Given the description of an element on the screen output the (x, y) to click on. 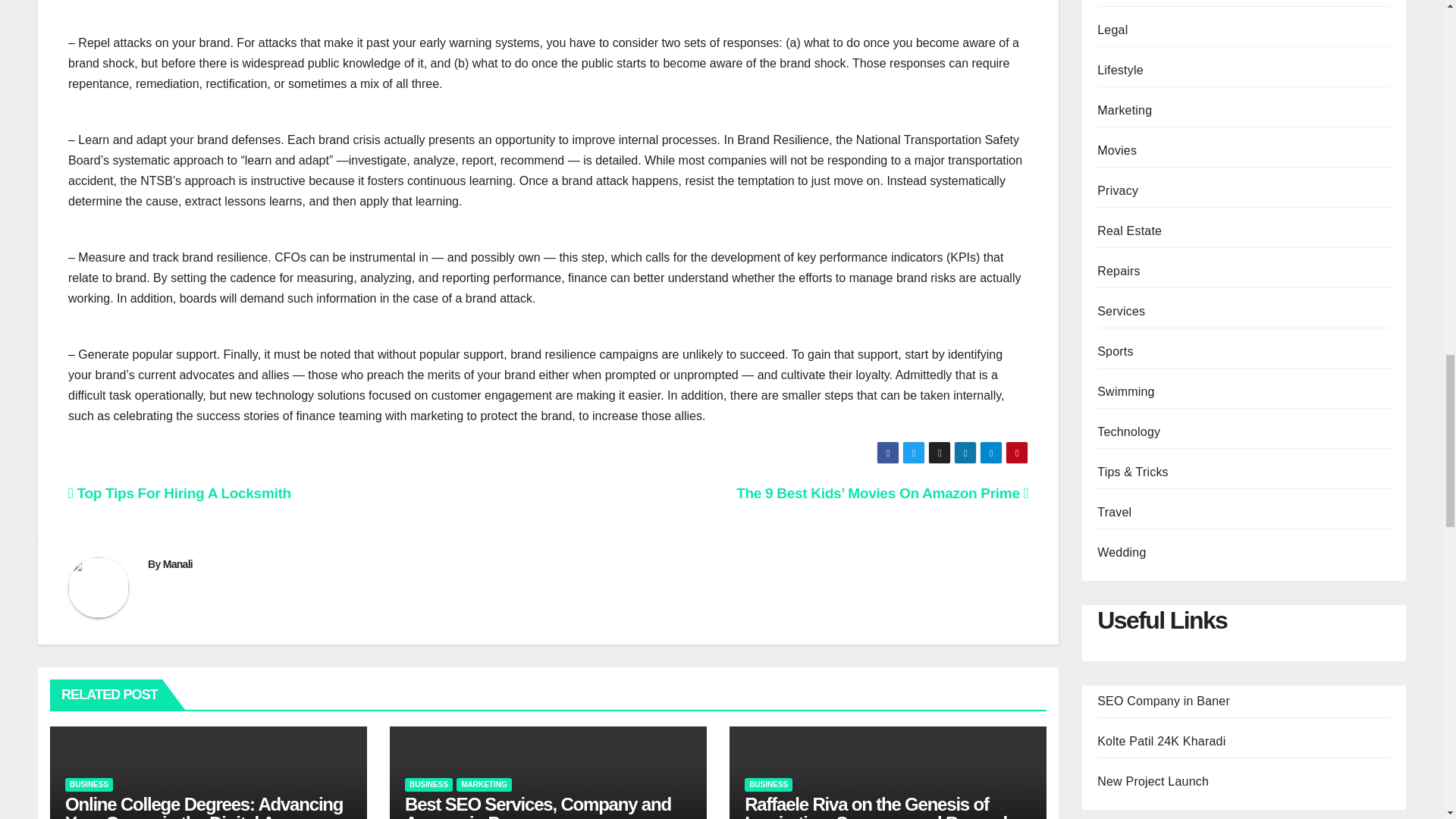
Best SEO Services, Company and Agency in Pune (537, 806)
MARKETING (484, 784)
BUSINESS (428, 784)
Top Tips For Hiring A Locksmith (179, 493)
Manali (177, 563)
BUSINESS (89, 784)
Permalink to: Best SEO Services, Company and Agency in Pune (537, 806)
BUSINESS (768, 784)
